Given the description of an element on the screen output the (x, y) to click on. 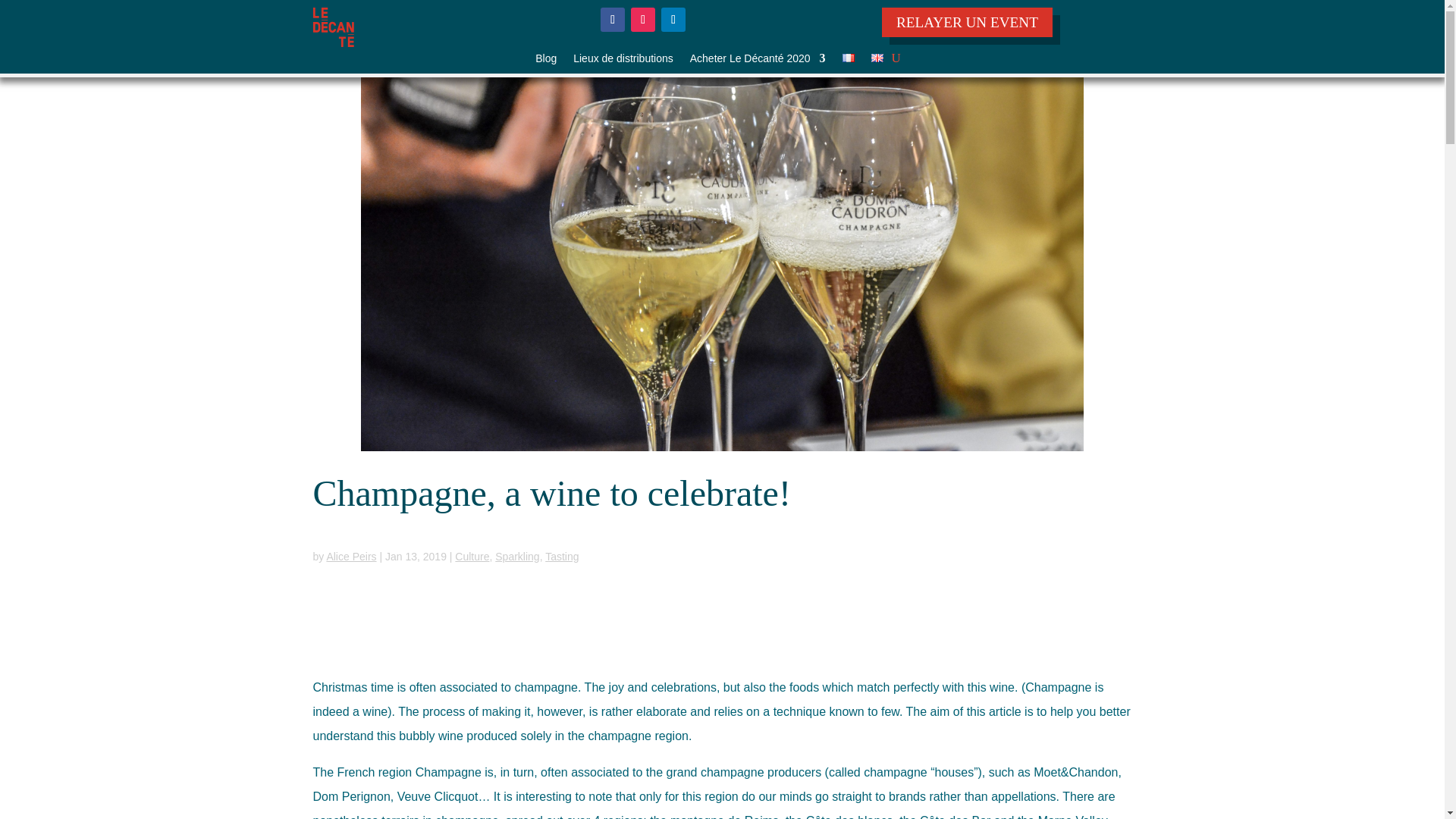
Alice Peirs (350, 556)
Follow on Facebook (611, 19)
Lieux de distributions (622, 61)
Follow on LinkedIn (673, 19)
Posts by Alice Peirs (350, 556)
Sparkling (516, 556)
Culture (471, 556)
Blog (545, 61)
Follow on Instagram (642, 19)
RELAYER UN EVENT (967, 21)
Tasting (561, 556)
